Given the description of an element on the screen output the (x, y) to click on. 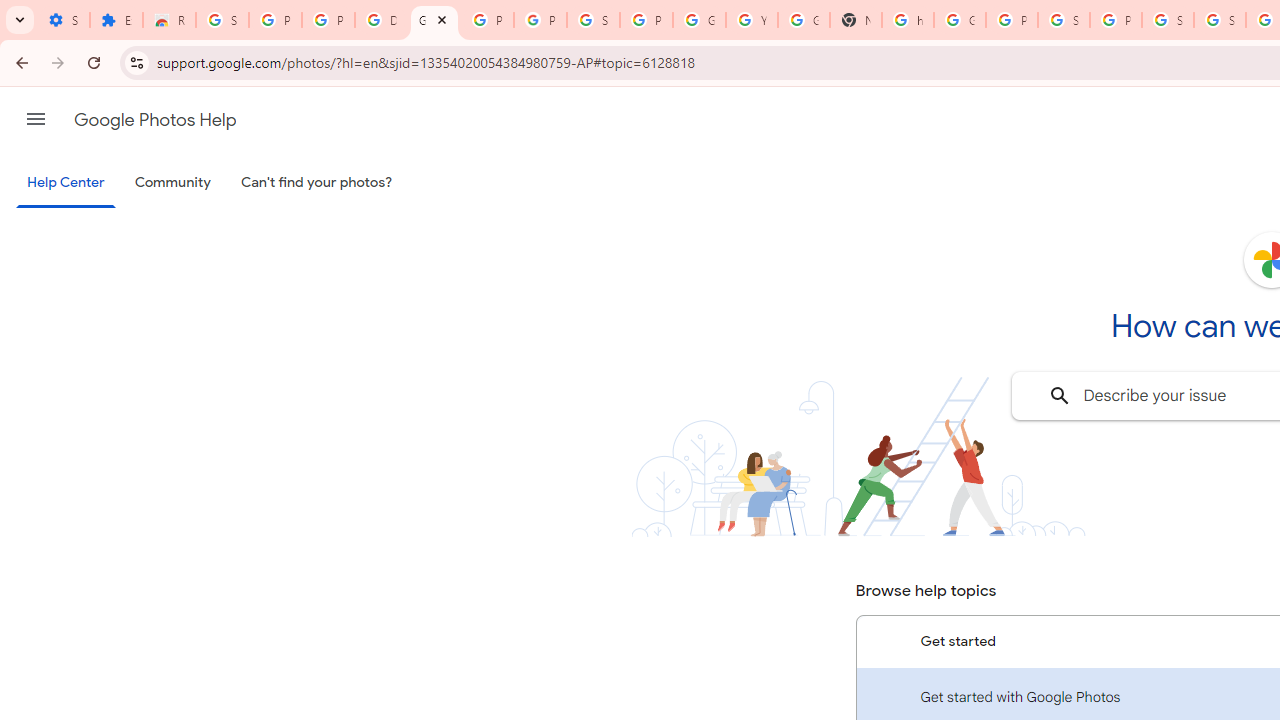
Community (171, 183)
Sign in - Google Accounts (1219, 20)
